Given the description of an element on the screen output the (x, y) to click on. 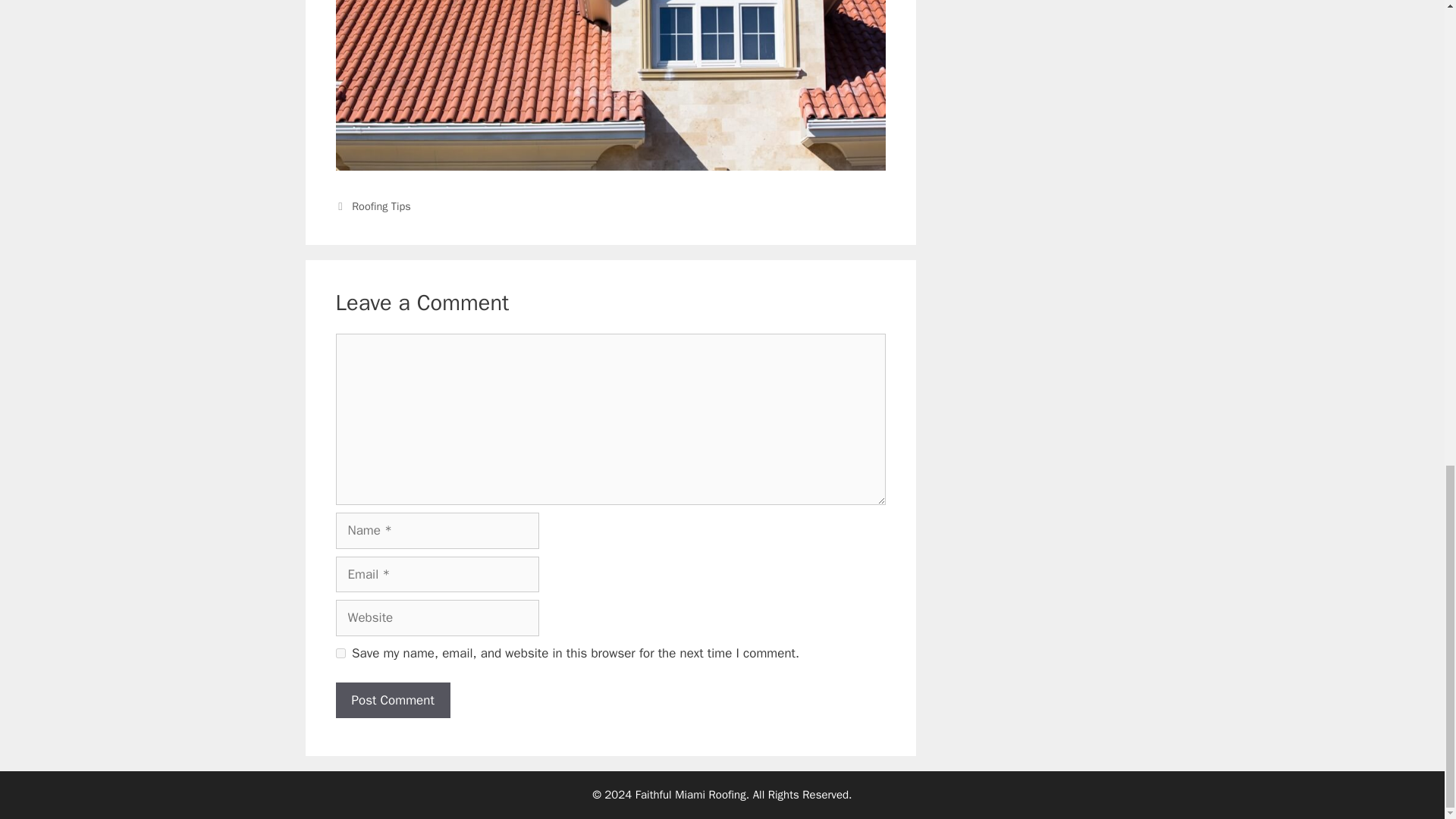
Roofing Tips (381, 205)
Post Comment (391, 700)
yes (339, 653)
Post Comment (391, 700)
